Given the description of an element on the screen output the (x, y) to click on. 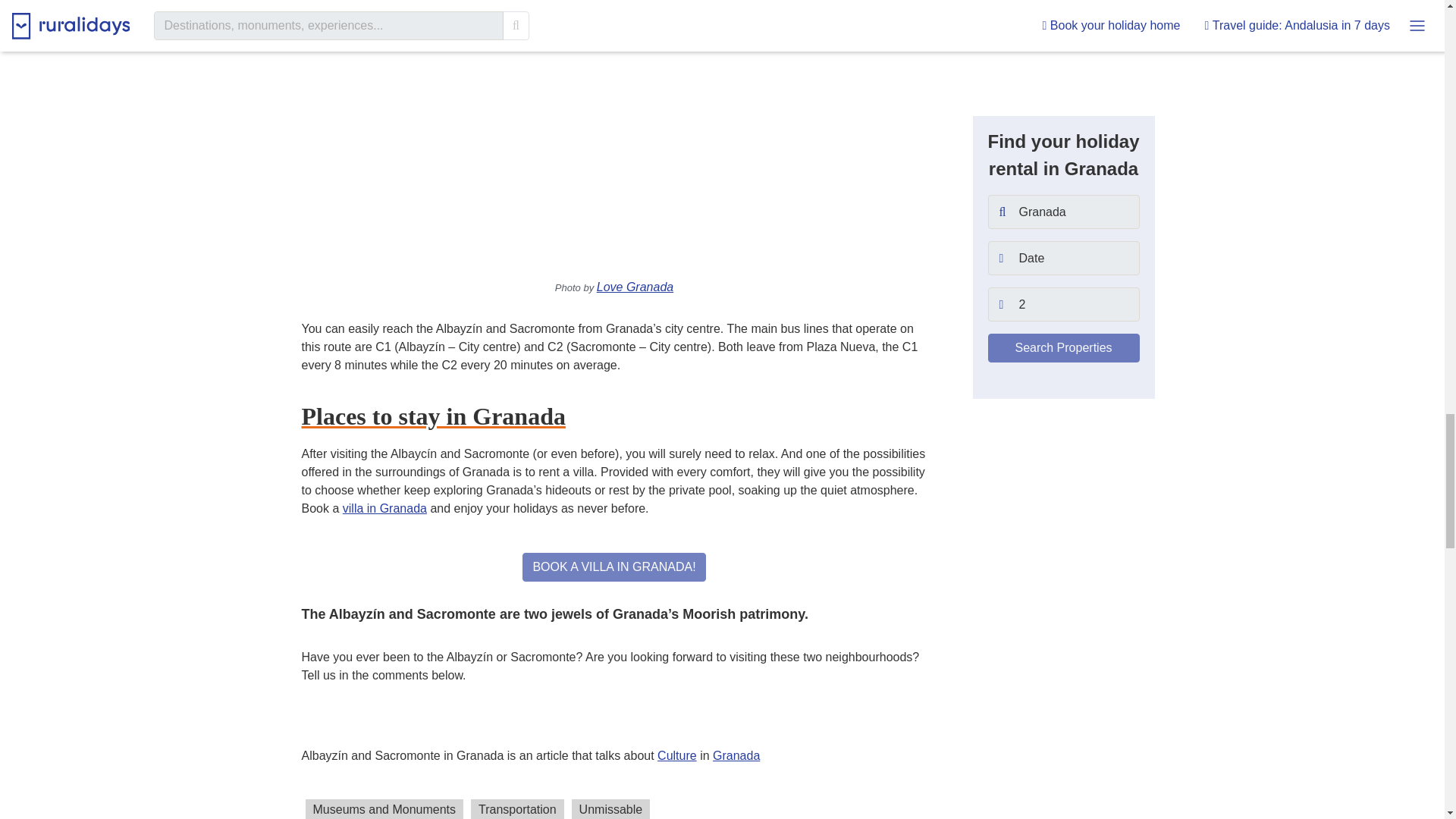
Museums and Monuments (384, 809)
villa in Granada (384, 508)
Love Granada (634, 286)
Culture (677, 755)
Transportation (517, 809)
BOOK A VILLA IN GRANADA! (613, 566)
Granada (736, 755)
